Given the description of an element on the screen output the (x, y) to click on. 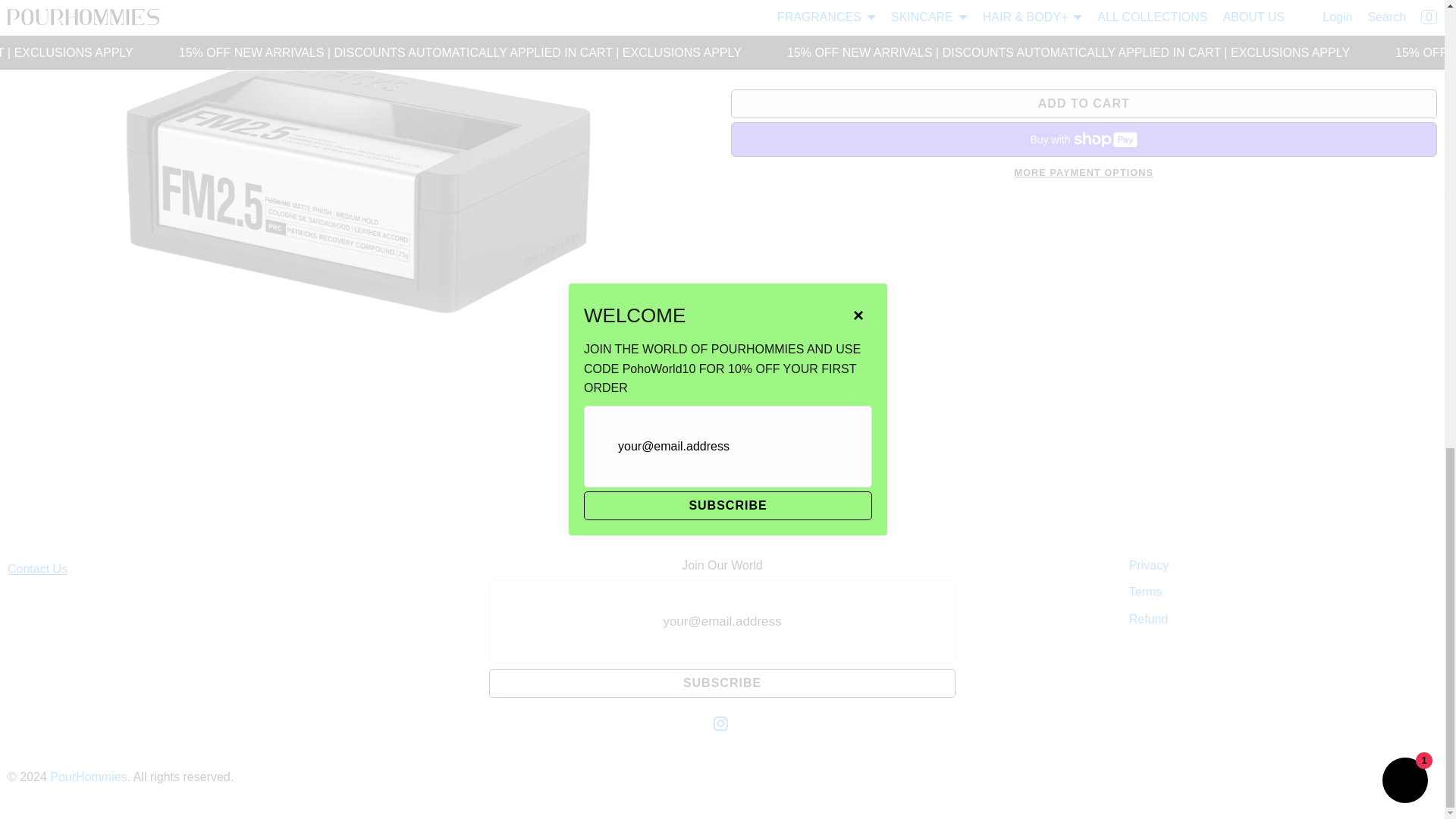
Contact Us (36, 569)
